Given the description of an element on the screen output the (x, y) to click on. 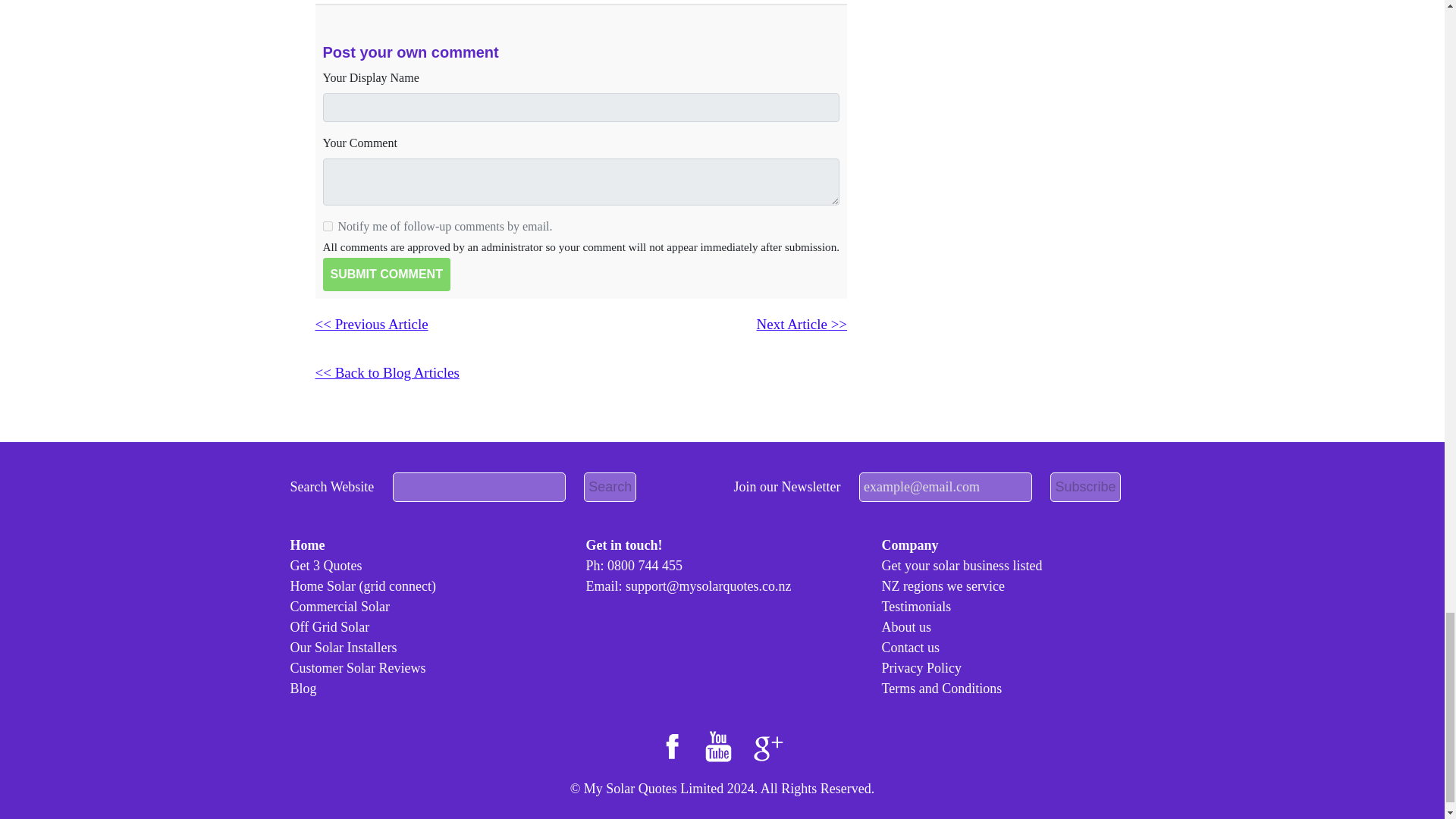
Submit Comment (386, 274)
1 (328, 225)
Subscribe (1084, 487)
Search (609, 487)
